Given the description of an element on the screen output the (x, y) to click on. 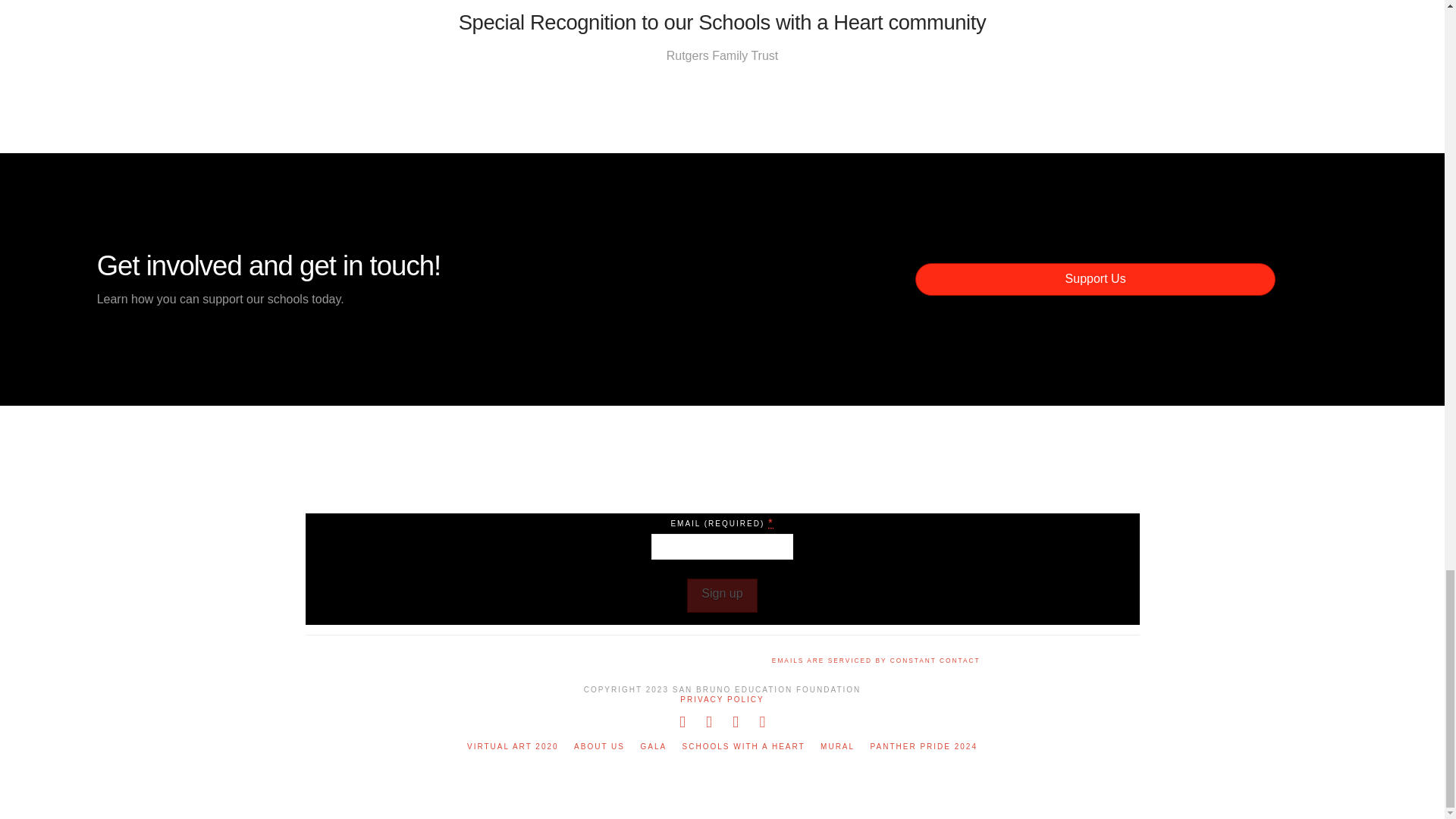
Sign up (722, 595)
PANTHER PRIDE 2024 (923, 746)
VIRTUAL ART 2020 (513, 746)
EMAILS ARE SERVICED BY CONSTANT CONTACT (875, 660)
ABOUT US (598, 746)
SCHOOLS WITH A HEART (743, 746)
MURAL (837, 746)
Support Us (1095, 278)
GALA (653, 746)
Sign up (722, 595)
PRIVACY POLICY (720, 699)
